Given the description of an element on the screen output the (x, y) to click on. 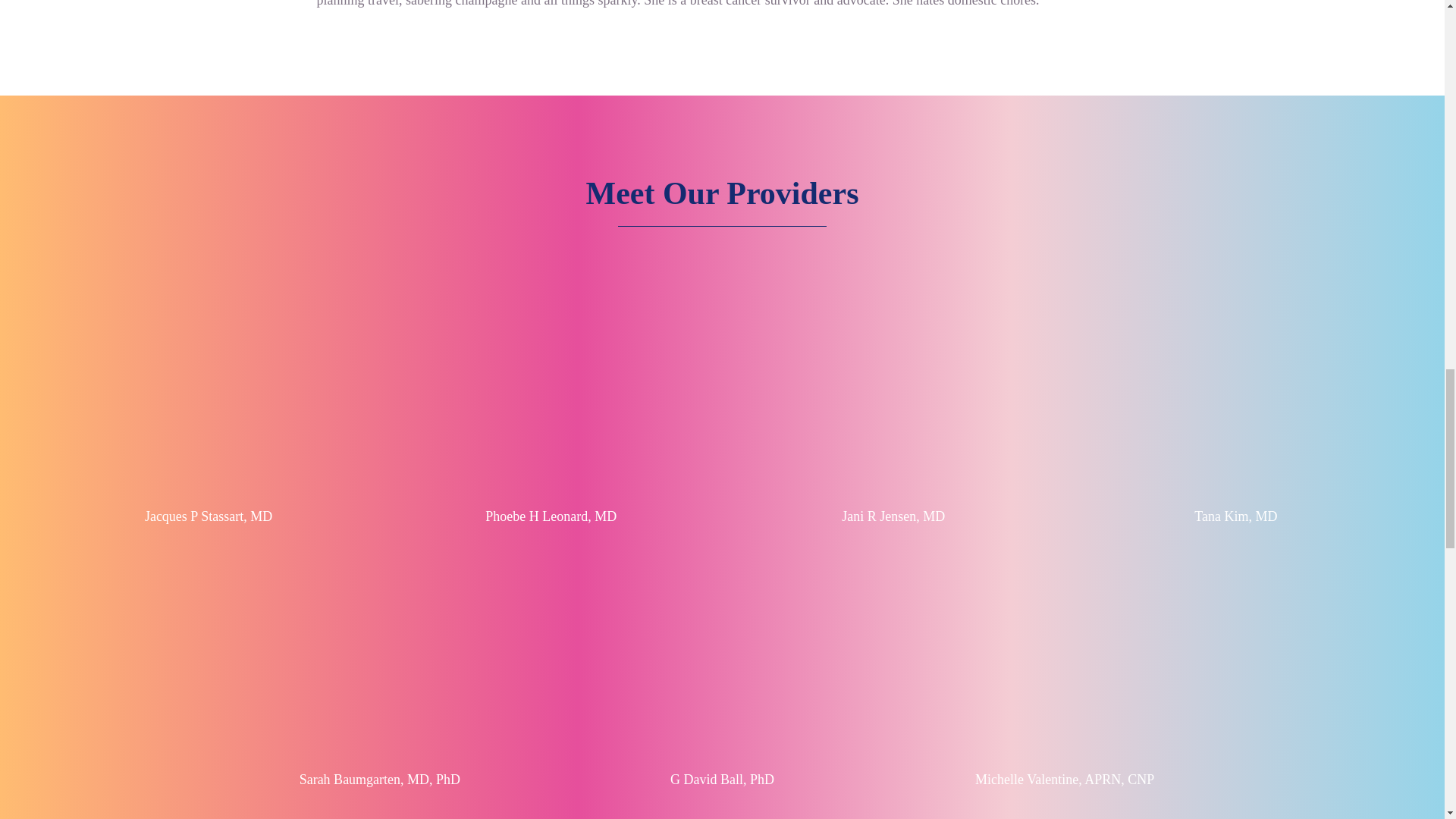
Jacques P Stassart, MD (208, 516)
